Given the description of an element on the screen output the (x, y) to click on. 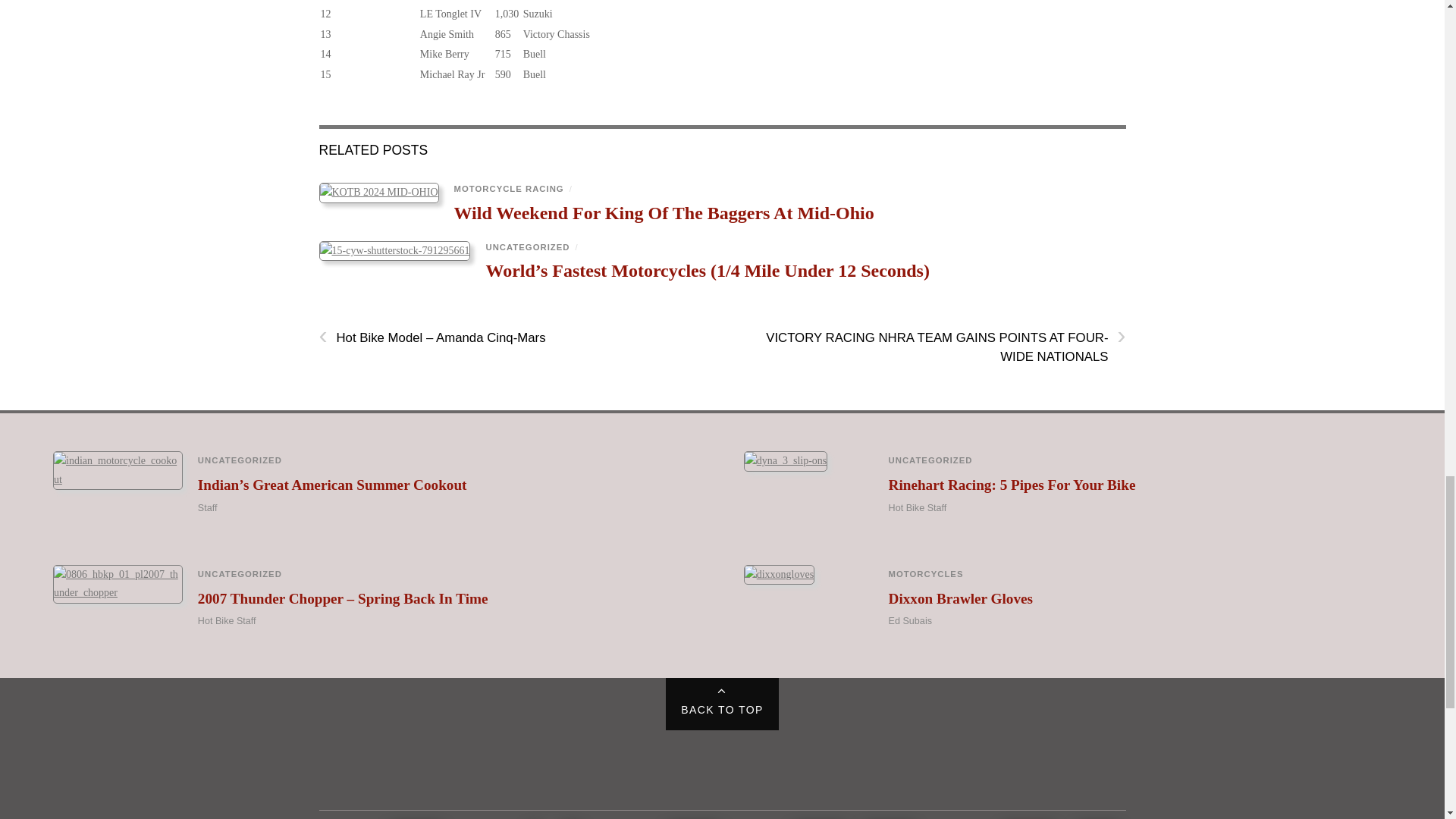
UNCATEGORIZED (240, 460)
UNCATEGORIZED (526, 246)
Wild Weekend For King Of The Baggers At Mid-Ohio (662, 212)
Wild Weekend for King of the Baggers at Mid-Ohio (662, 212)
MOTORCYCLE RACING (507, 188)
Staff (207, 507)
unnamed (378, 192)
dixxongloves (778, 575)
15-cyw-shutterstock-791295661 (394, 250)
